Given the description of an element on the screen output the (x, y) to click on. 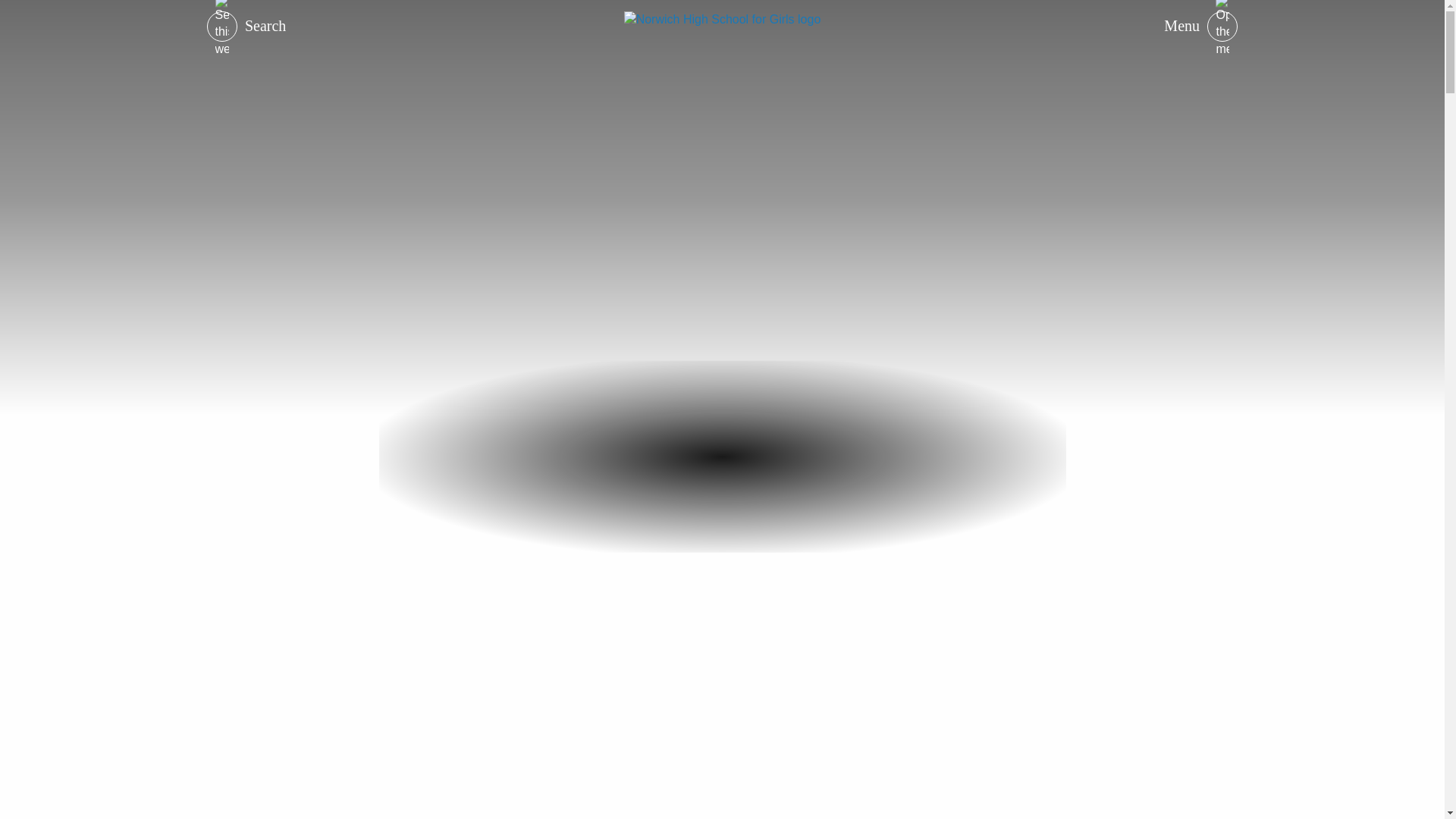
Return to the homepage (722, 80)
Search (243, 37)
Menu (1203, 37)
